Given the description of an element on the screen output the (x, y) to click on. 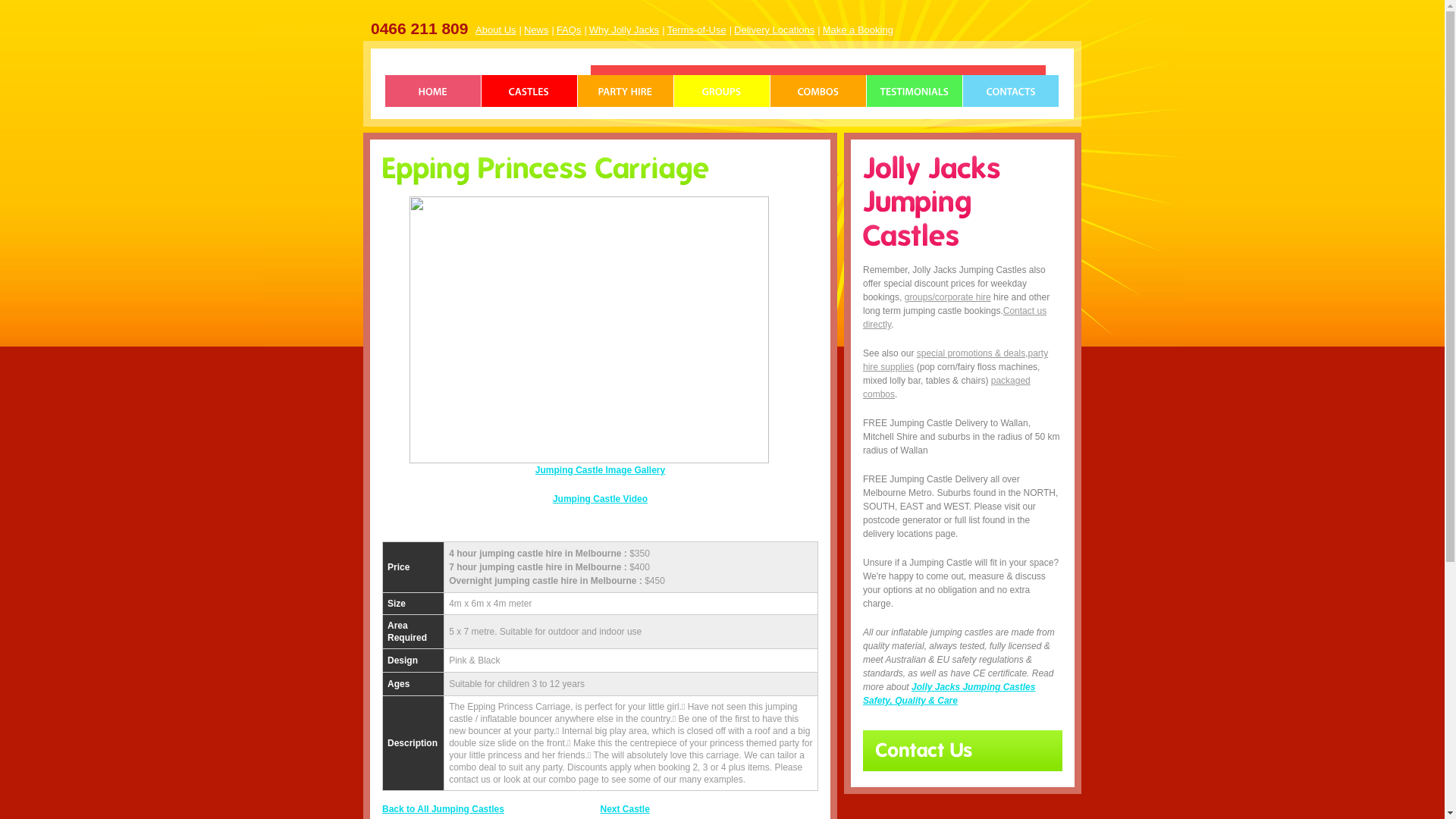
Terms-of-Use Element type: text (696, 29)
FAQs Element type: text (568, 29)
News Element type: text (536, 29)
Delivery Locations Element type: text (774, 29)
Next Castle Element type: text (624, 808)
Contact us directly Element type: text (954, 317)
Back to All Jumping Castles Element type: text (443, 808)
packaged combos Element type: text (946, 387)
Make a Booking Element type: text (857, 29)
party hire supplies Element type: text (955, 360)
Epping Princess Carriage Element type: hover (599, 206)
special promotions & deals Element type: text (970, 353)
Jumping Castle Image Gallery Element type: text (600, 469)
Why Jolly Jacks Element type: text (623, 29)
groups/corporate hire Element type: text (947, 296)
Jumping Castle Video Element type: text (599, 498)
About Us Element type: text (495, 29)
Jolly Jacks Jumping Castles Safety, Quality & Care Element type: text (948, 693)
